Given the description of an element on the screen output the (x, y) to click on. 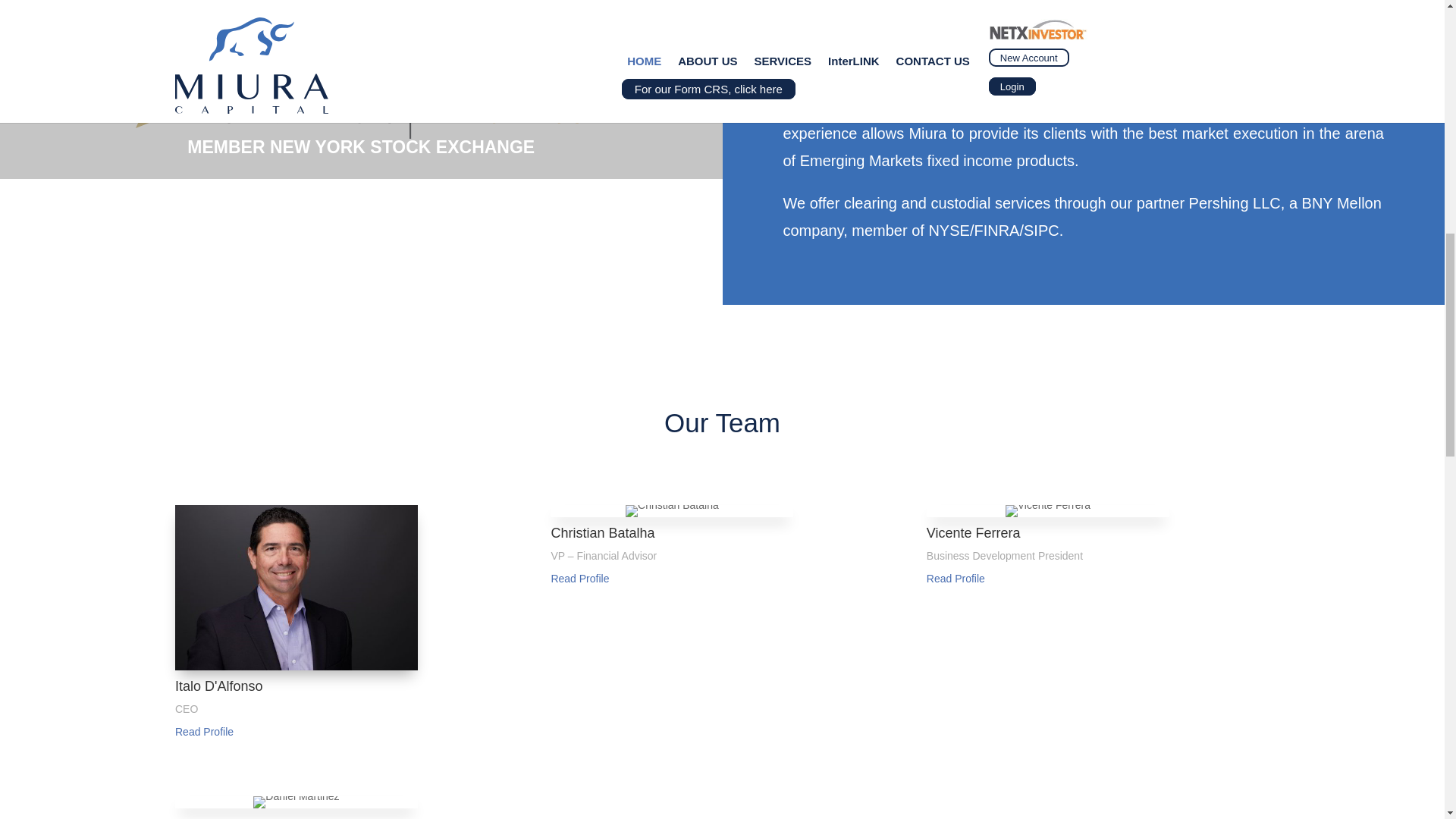
Read Profile (203, 731)
Read Profile (955, 578)
Read Profile (579, 578)
